Given the description of an element on the screen output the (x, y) to click on. 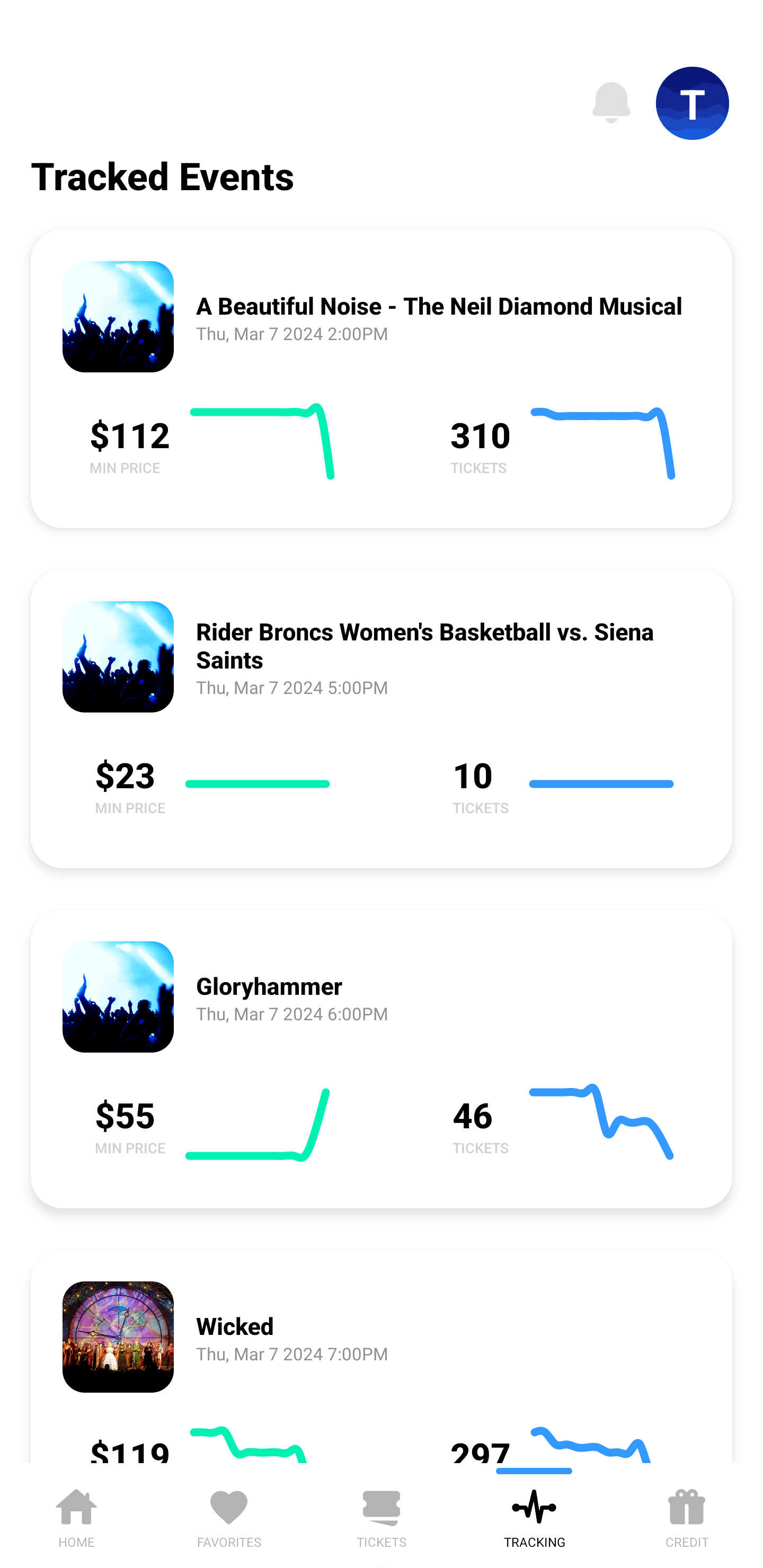
T (692, 103)
HOME (76, 1515)
FAVORITES (228, 1515)
TICKETS (381, 1515)
TRACKING (533, 1515)
CREDIT (686, 1515)
